Given the description of an element on the screen output the (x, y) to click on. 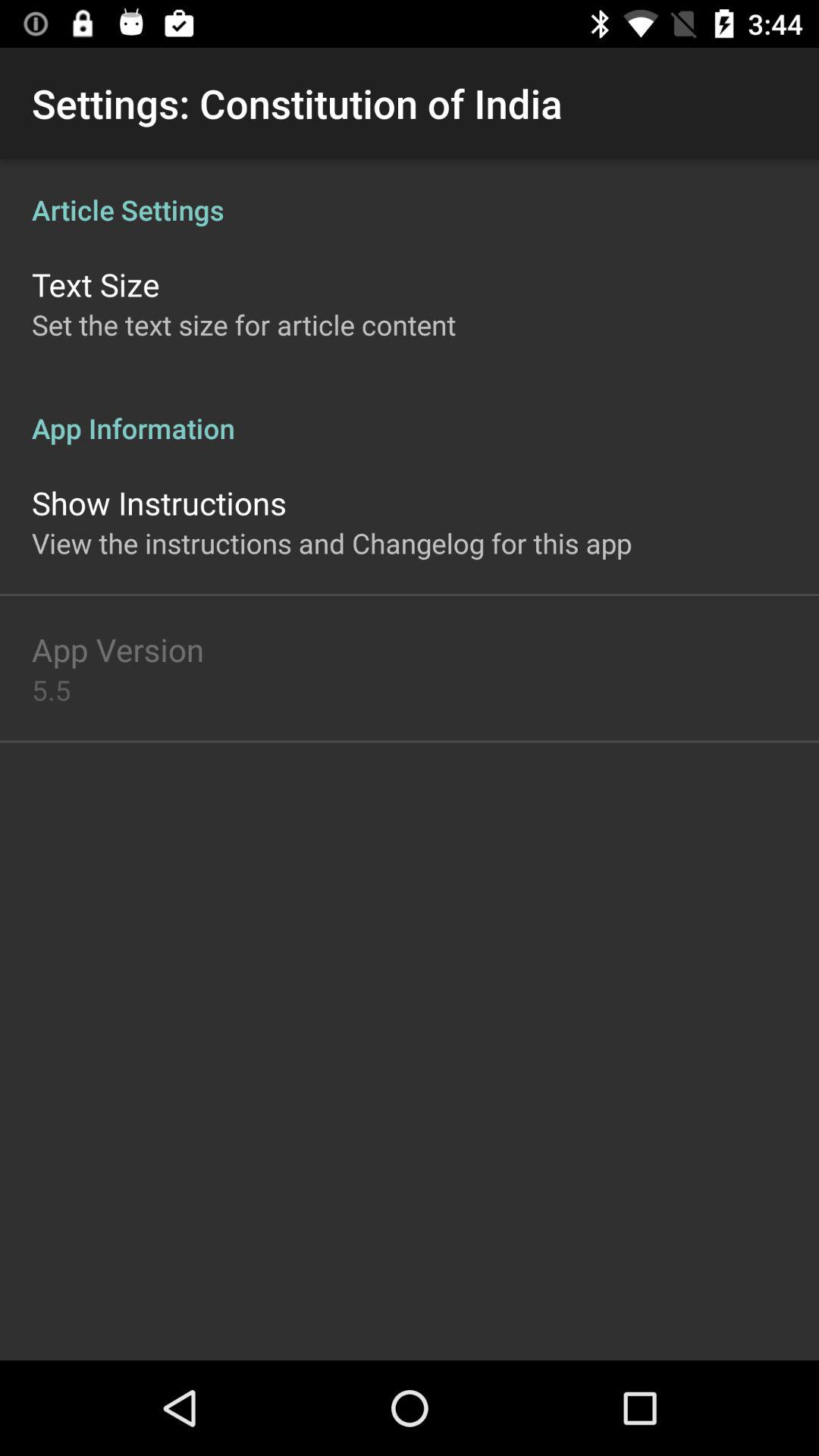
tap 5.5 (51, 689)
